Given the description of an element on the screen output the (x, y) to click on. 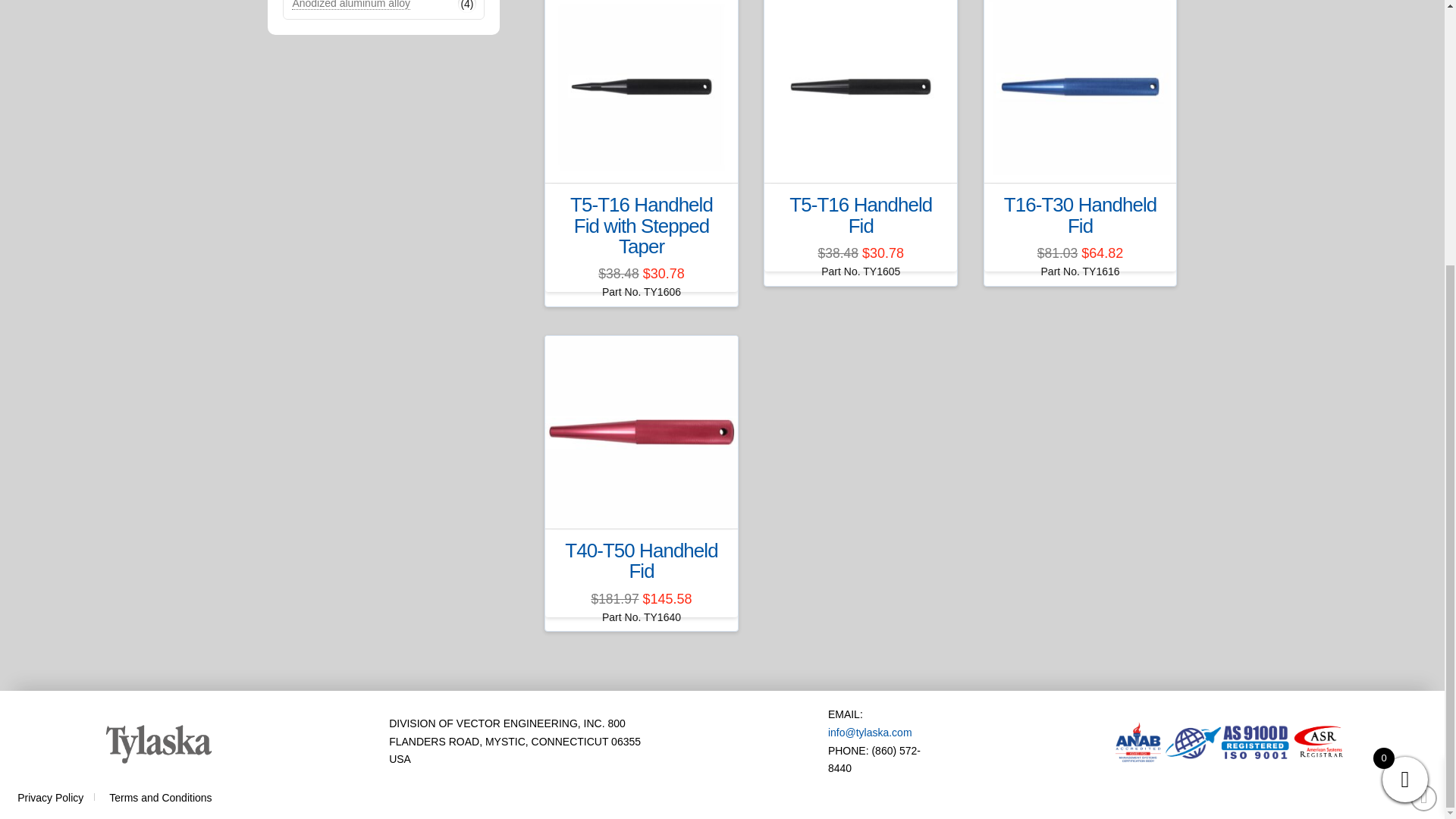
T5-T16 Handheld Fid with Stepped Taper (641, 225)
Back to Top (1423, 413)
